Given the description of an element on the screen output the (x, y) to click on. 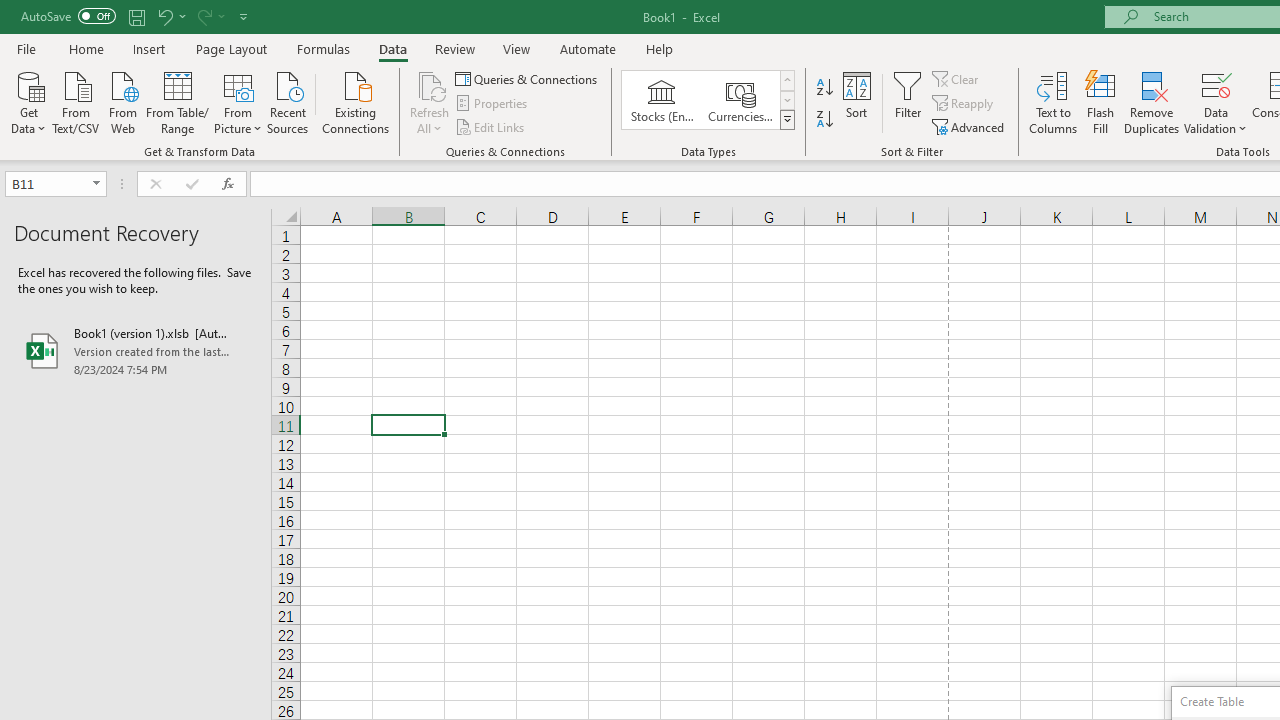
Remove Duplicates (1151, 102)
Data Types (786, 120)
Sort Z to A (824, 119)
Row up (786, 79)
Flash Fill (1101, 102)
